Given the description of an element on the screen output the (x, y) to click on. 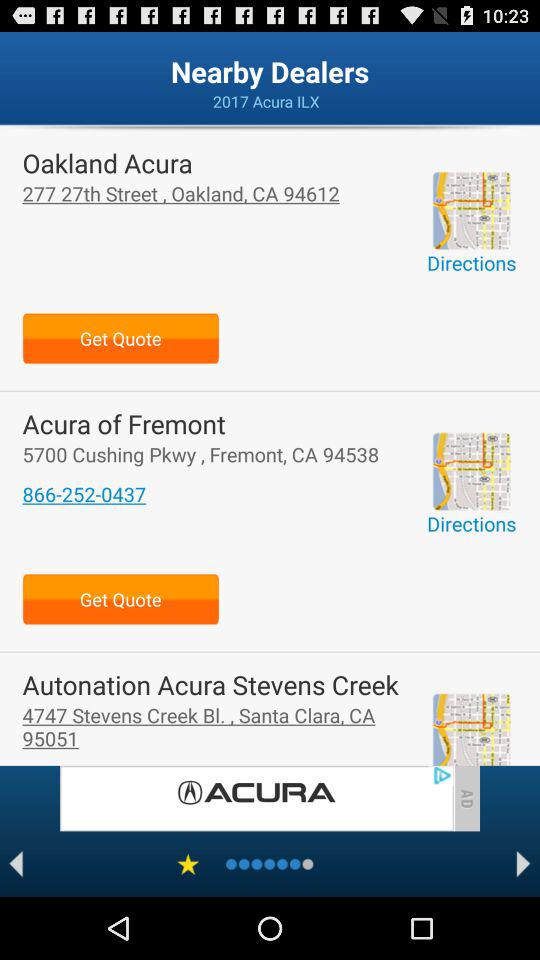
open map (471, 210)
